Given the description of an element on the screen output the (x, y) to click on. 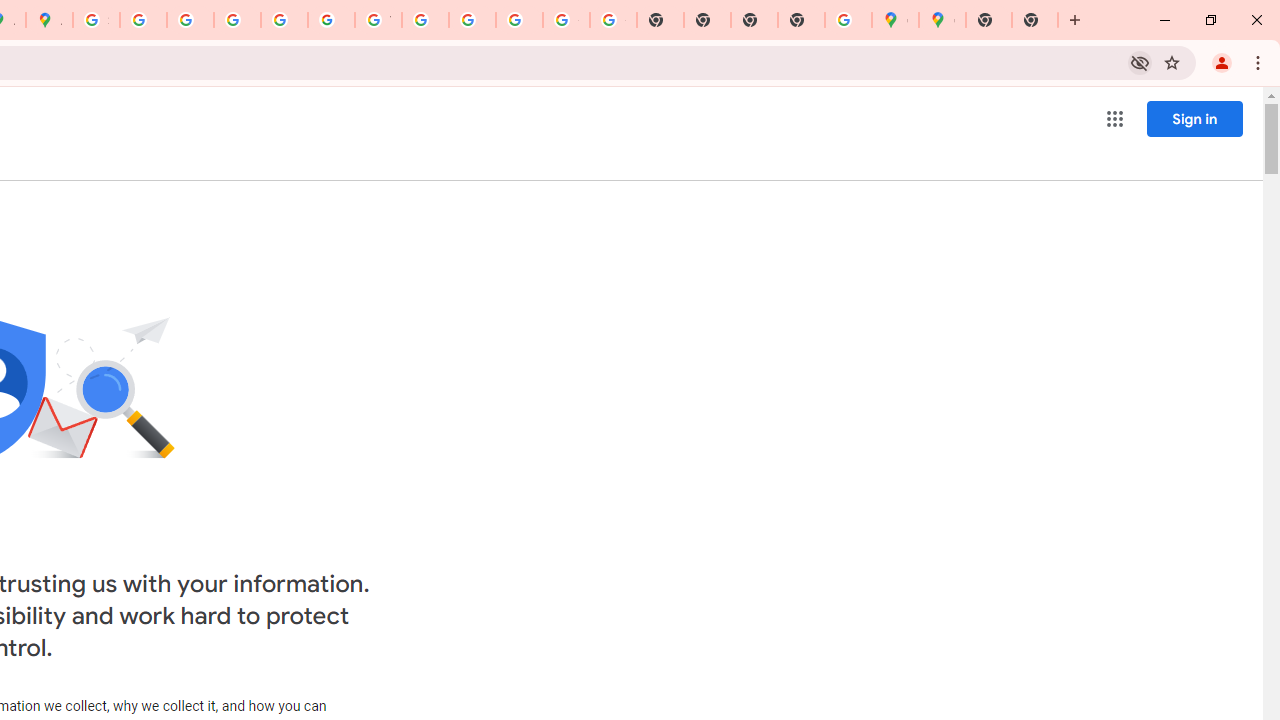
Privacy Help Center - Policies Help (189, 20)
Use Google Maps in Space - Google Maps Help (848, 20)
YouTube (377, 20)
Google Maps (942, 20)
